Given the description of an element on the screen output the (x, y) to click on. 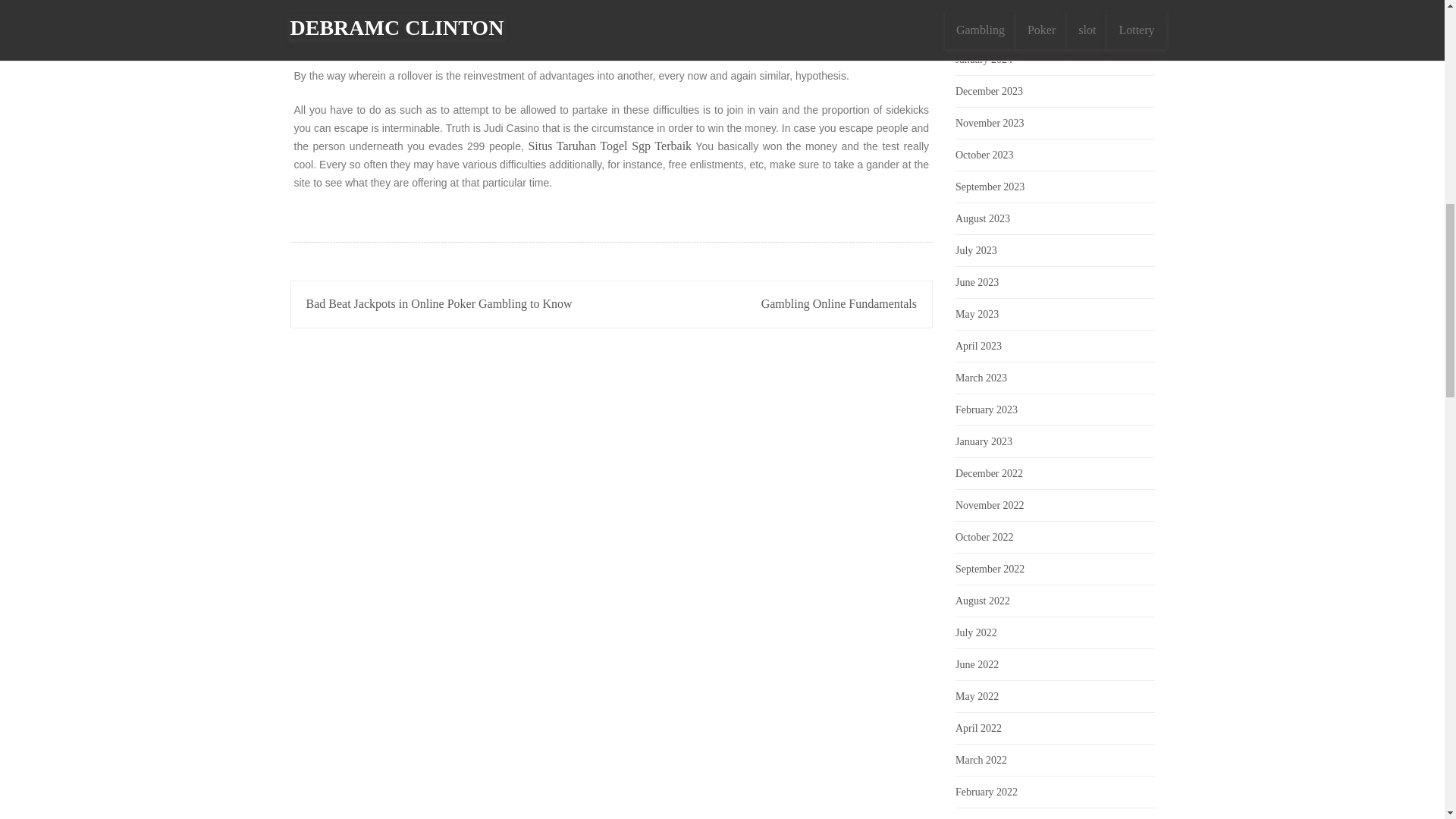
January 2024 (983, 59)
December 2022 (989, 473)
Bad Beat Jackpots in Online Poker Gambling to Know (438, 303)
December 2023 (989, 91)
May 2023 (976, 314)
November 2022 (990, 505)
Gambling Online Fundamentals (839, 303)
October 2023 (984, 154)
April 2023 (978, 346)
Situs Taruhan Togel Sgp Terbaik (609, 145)
February 2024 (986, 27)
June 2023 (976, 282)
February 2023 (986, 409)
September 2023 (990, 186)
September 2022 (990, 568)
